Given the description of an element on the screen output the (x, y) to click on. 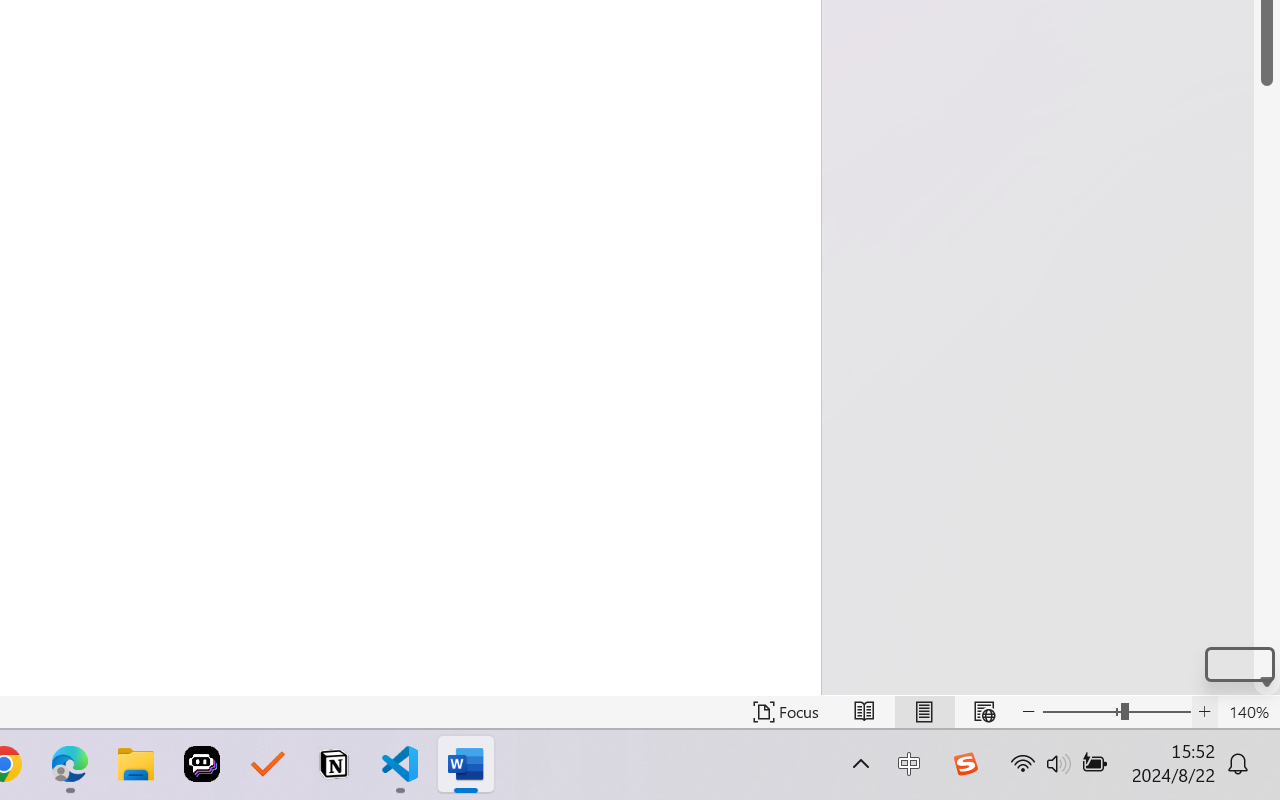
Read Mode (864, 712)
Zoom In (1204, 712)
Zoom In (1239, 664)
Line down (1267, 681)
Zoom (1116, 712)
Focus  (786, 712)
Page down (1267, 377)
Zoom Out (1081, 712)
Web Layout (984, 712)
Class: Image (965, 764)
Zoom 140% (1249, 712)
Print Layout (924, 712)
